Given the description of an element on the screen output the (x, y) to click on. 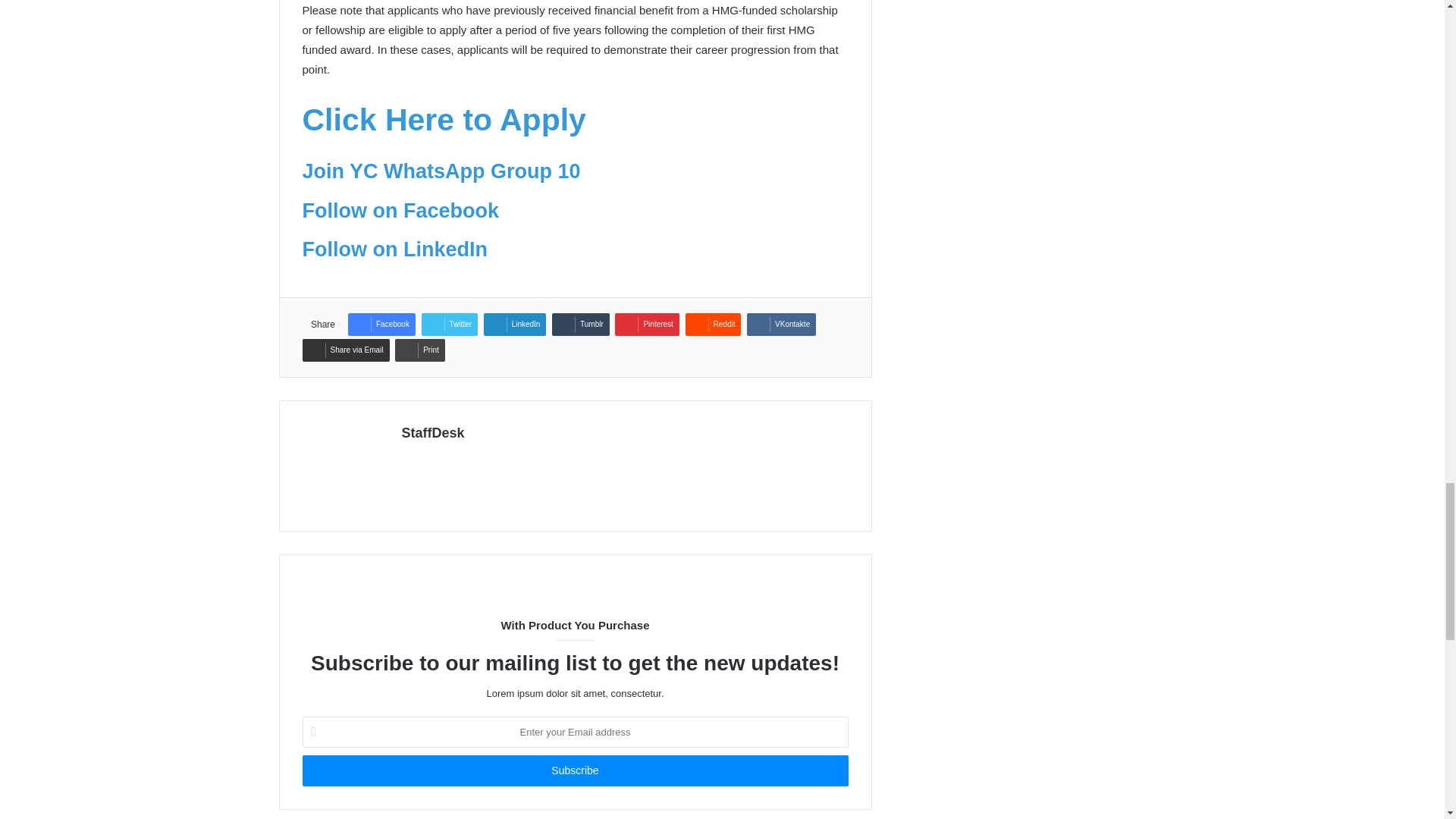
Follow on LinkedIn (393, 249)
LinkedIn (515, 323)
Join YC WhatsApp Group 10 (440, 170)
Facebook (380, 323)
Follow on Facebook (400, 210)
Click Here to Apply (443, 119)
Twitter (449, 323)
Subscribe (574, 770)
